Given the description of an element on the screen output the (x, y) to click on. 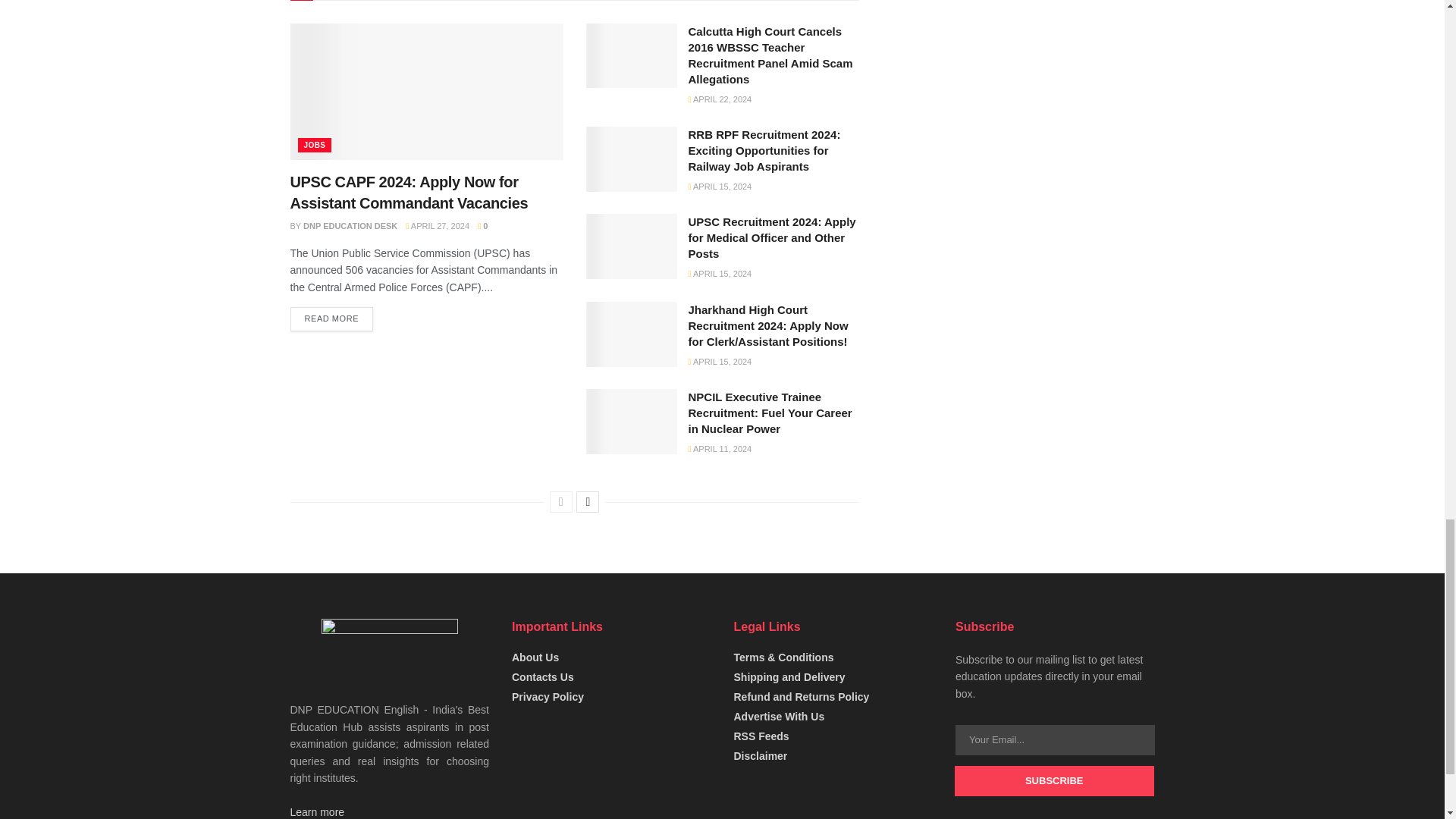
Next (587, 501)
Subscribe (1054, 780)
Previous (561, 501)
